Given the description of an element on the screen output the (x, y) to click on. 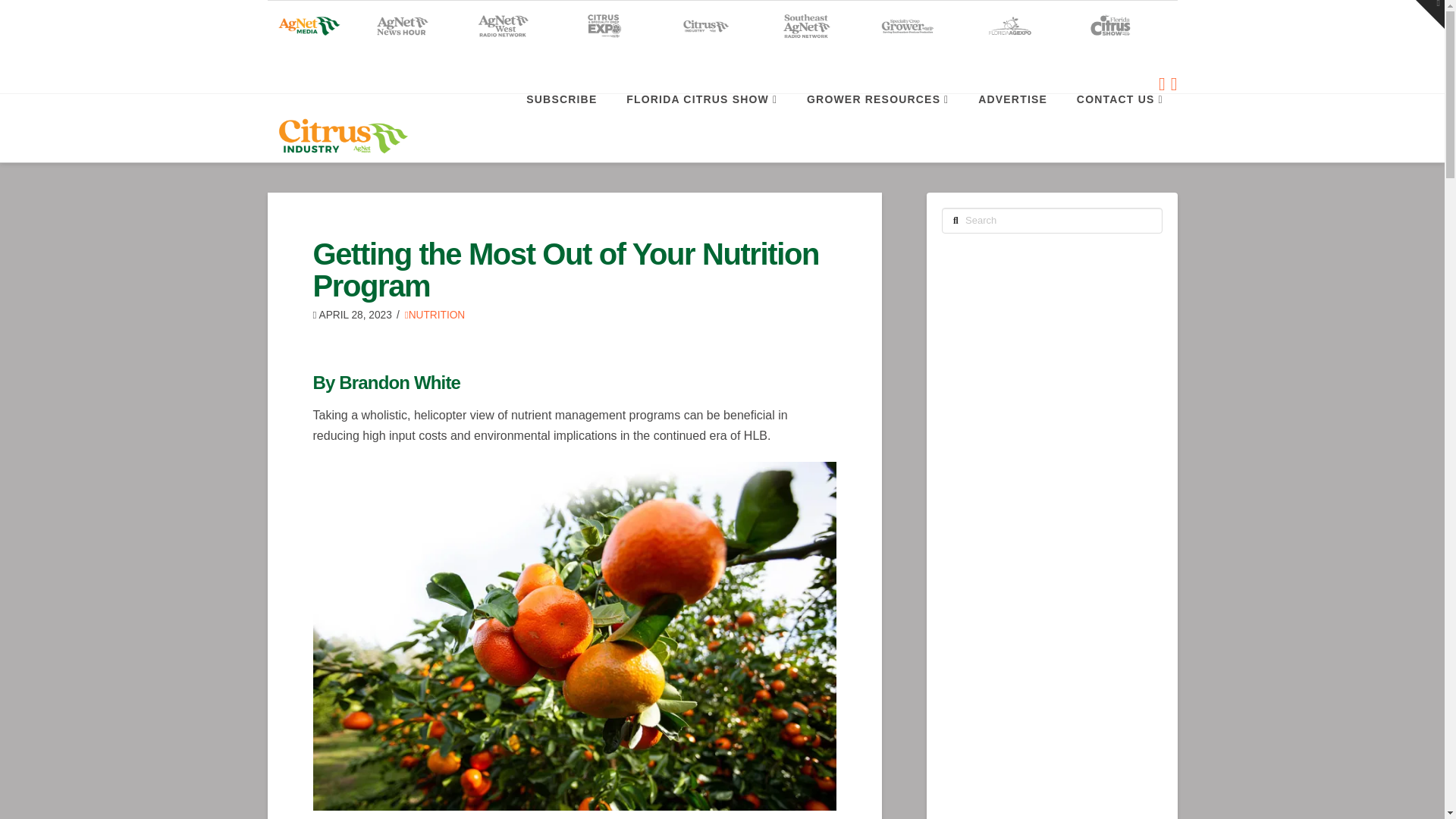
GROWER RESOURCES (877, 128)
FLORIDA CITRUS SHOW (701, 128)
ADVERTISE (1011, 128)
CONTACT US (1119, 128)
SUBSCRIBE (561, 128)
